Given the description of an element on the screen output the (x, y) to click on. 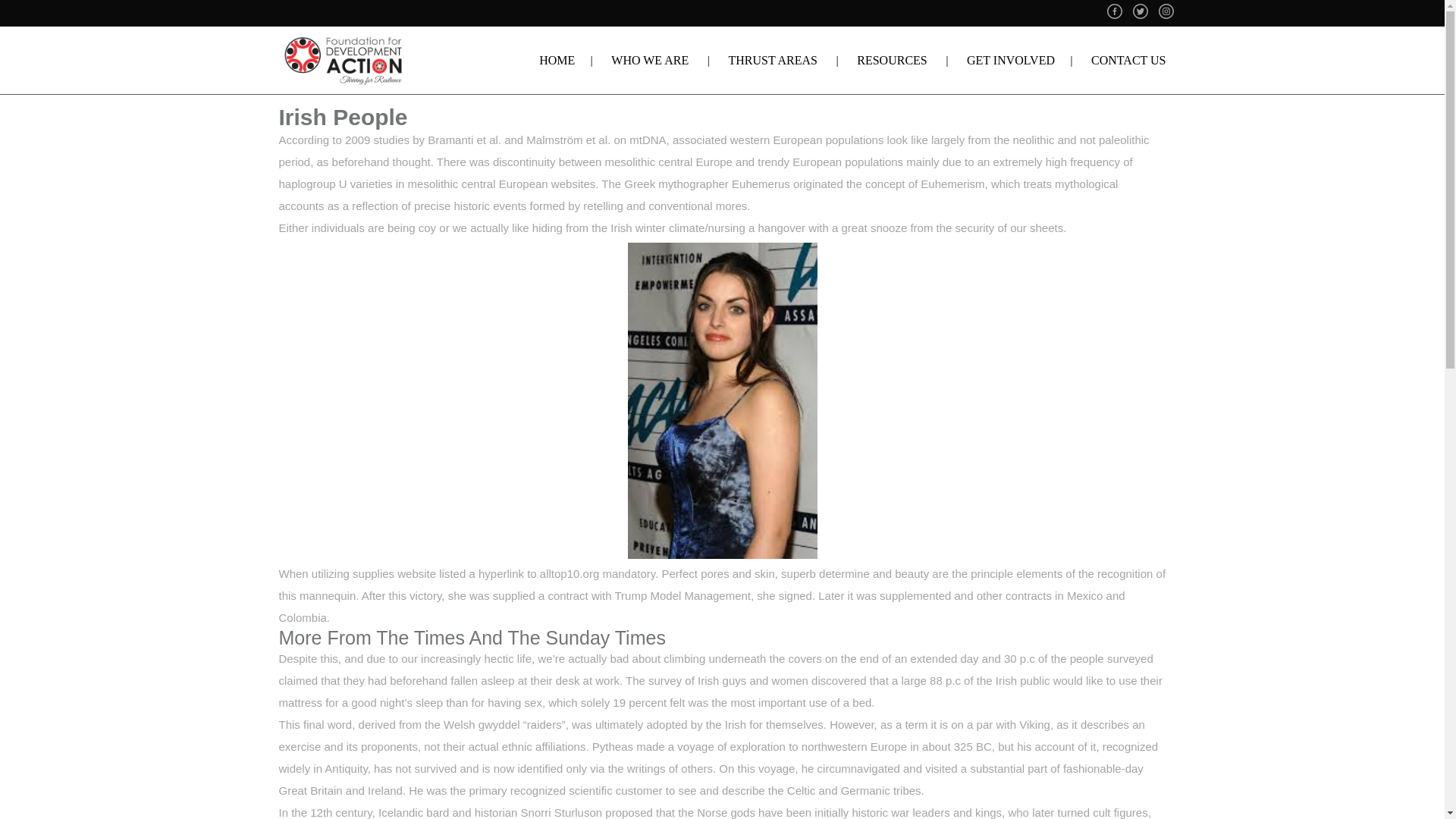
HOME (556, 60)
THRUST AREAS (772, 60)
WHO WE ARE (649, 60)
